Given the description of an element on the screen output the (x, y) to click on. 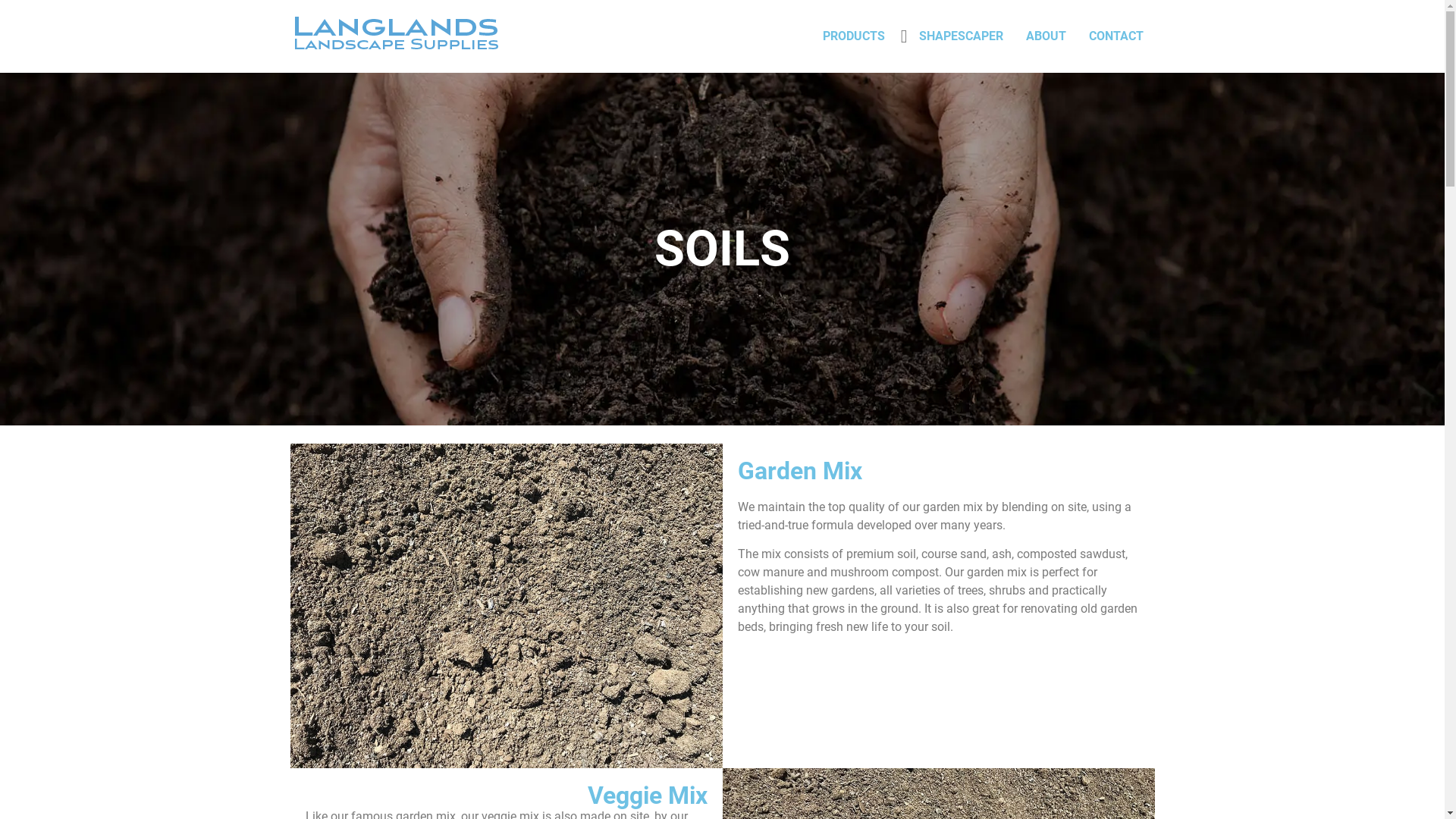
SHAPESCAPER Element type: text (959, 36)
CONTACT Element type: text (1115, 36)
ABOUT Element type: text (1045, 36)
Products Element type: text (722, 96)
PRODUCTS Element type: text (853, 36)
